Given the description of an element on the screen output the (x, y) to click on. 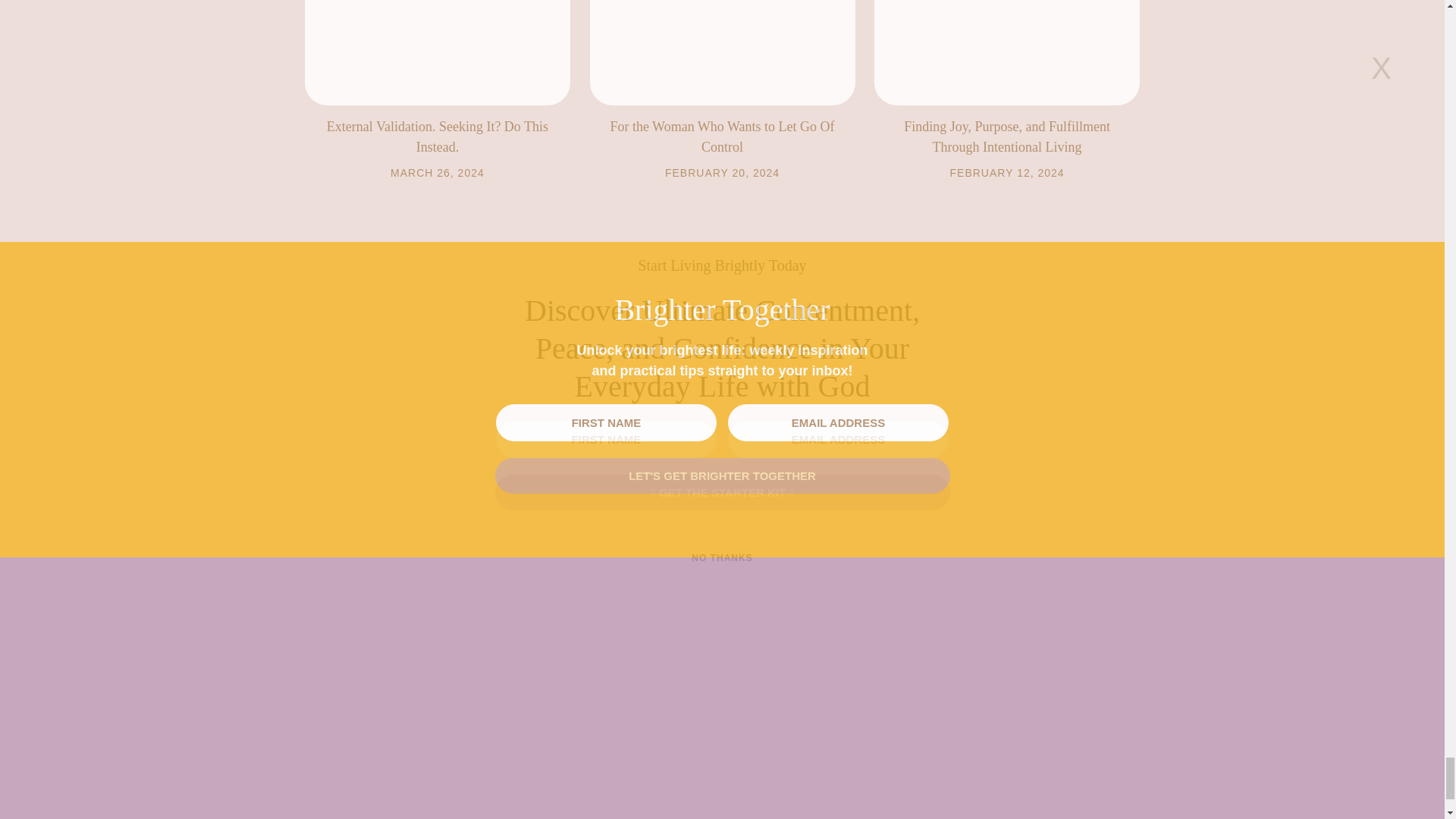
Let's Get Brighter Together (722, 475)
